Given the description of an element on the screen output the (x, y) to click on. 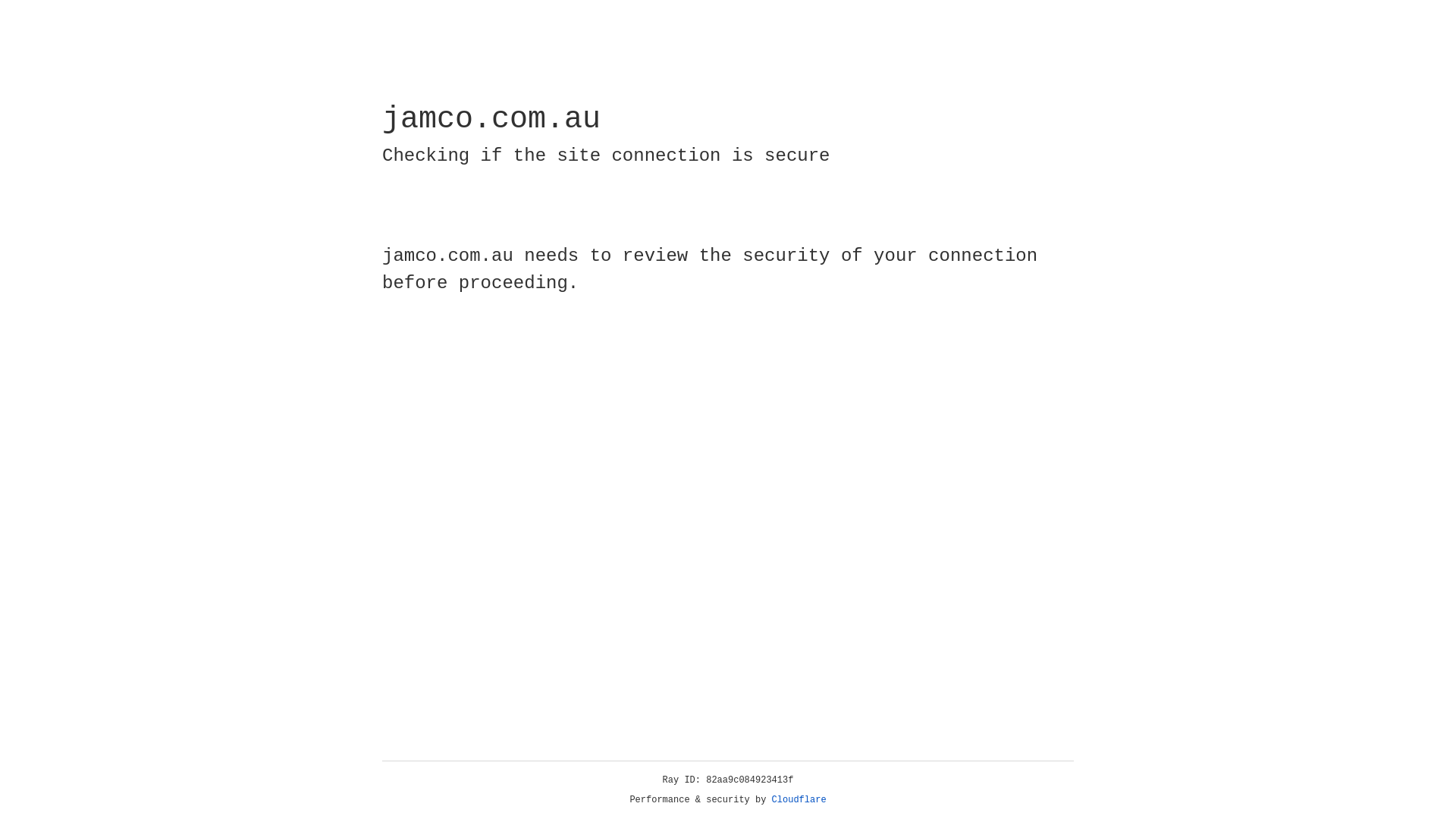
Cloudflare Element type: text (798, 799)
